Given the description of an element on the screen output the (x, y) to click on. 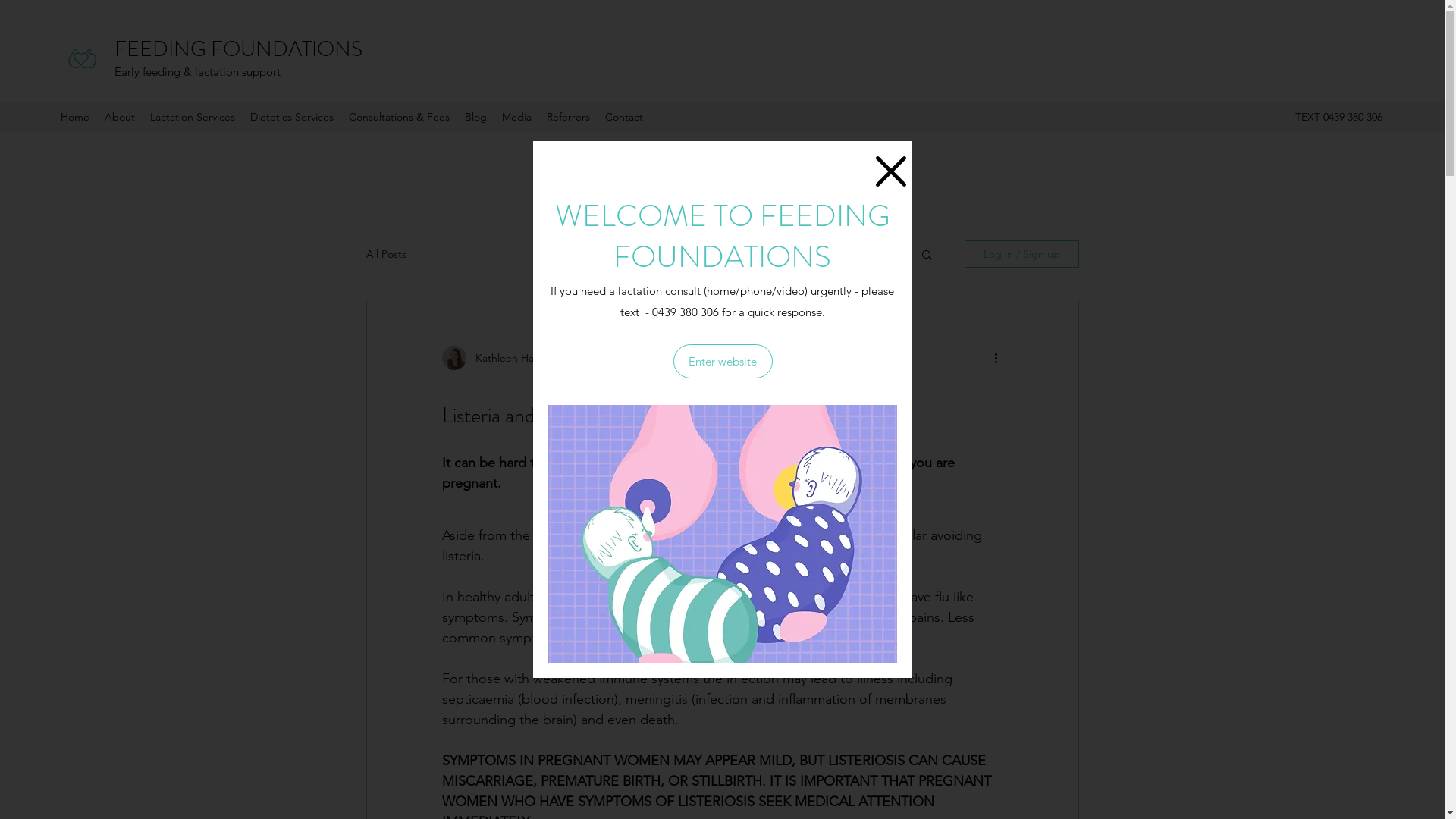
FEEDING FOUNDATIONS Element type: text (238, 49)
All Posts Element type: text (385, 253)
Lactation Services Element type: text (192, 116)
Consultations & Fees Element type: text (399, 116)
Enter website Element type: text (722, 361)
Home Element type: text (75, 116)
Back to site Element type: hover (890, 171)
Dietetics Services Element type: text (291, 116)
Contact Element type: text (623, 116)
Media Element type: text (516, 116)
Referrers Element type: text (568, 116)
Log in / Sign up Element type: text (1021, 253)
About Element type: text (119, 116)
Blog Element type: text (475, 116)
